Given the description of an element on the screen output the (x, y) to click on. 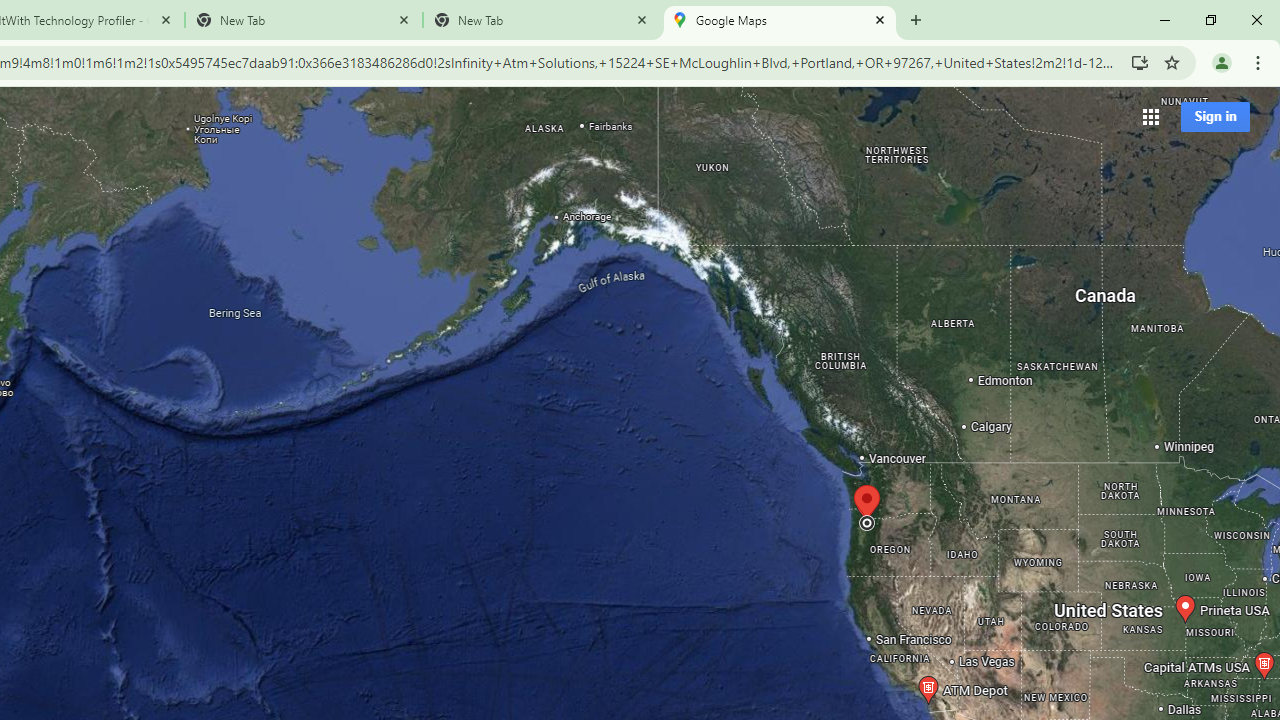
Chrome (1260, 62)
Google Maps (779, 20)
Restore (1210, 20)
New Tab (541, 20)
New Tab (916, 20)
Install Google Maps (1139, 62)
Bookmark this tab (1171, 62)
Minimize (1165, 20)
You (1221, 62)
Google apps (1150, 115)
Close (879, 19)
Sign in (1215, 115)
